Given the description of an element on the screen output the (x, y) to click on. 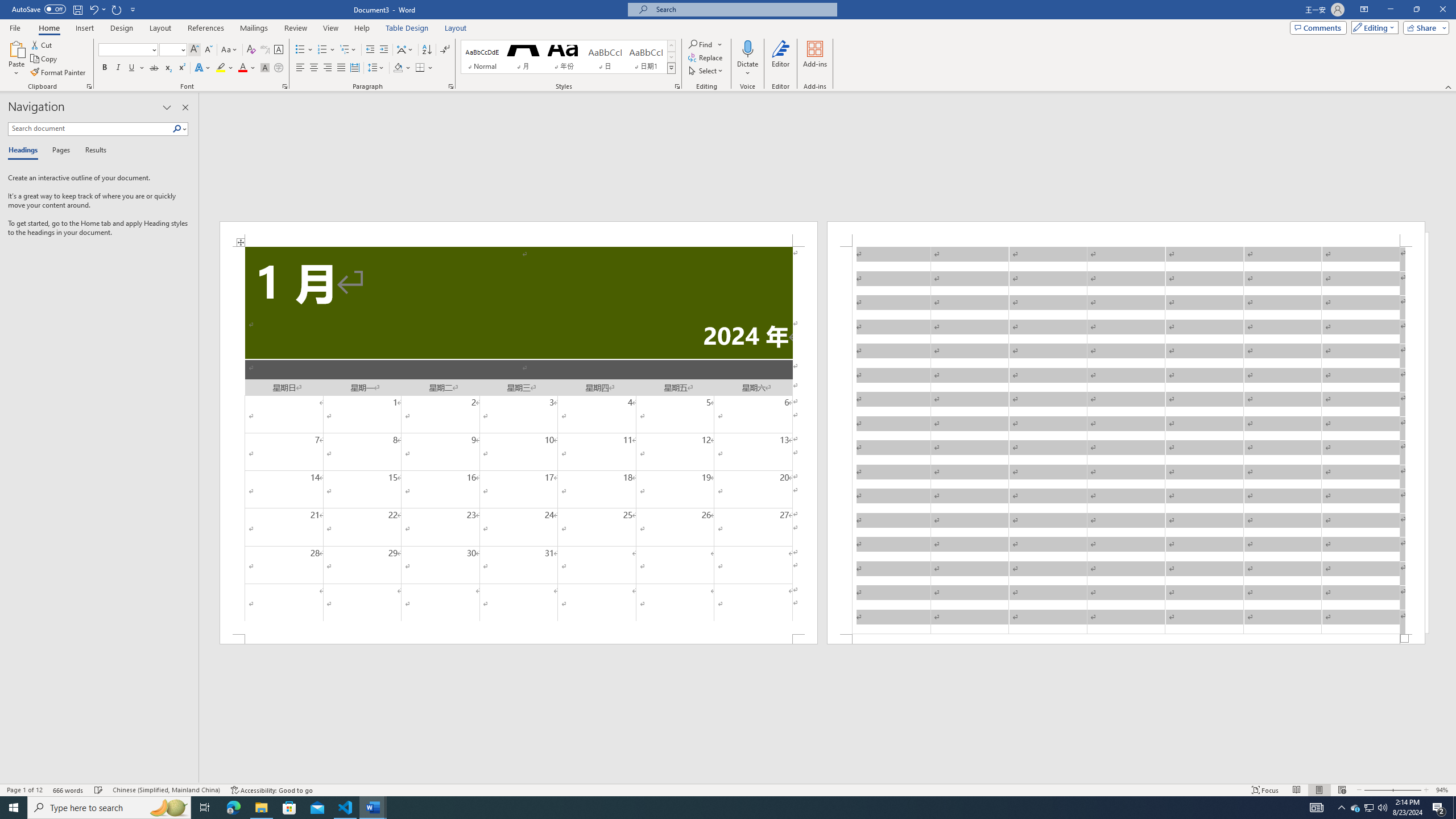
Page 2 content (1126, 439)
Word Count 666 words (68, 790)
